Given the description of an element on the screen output the (x, y) to click on. 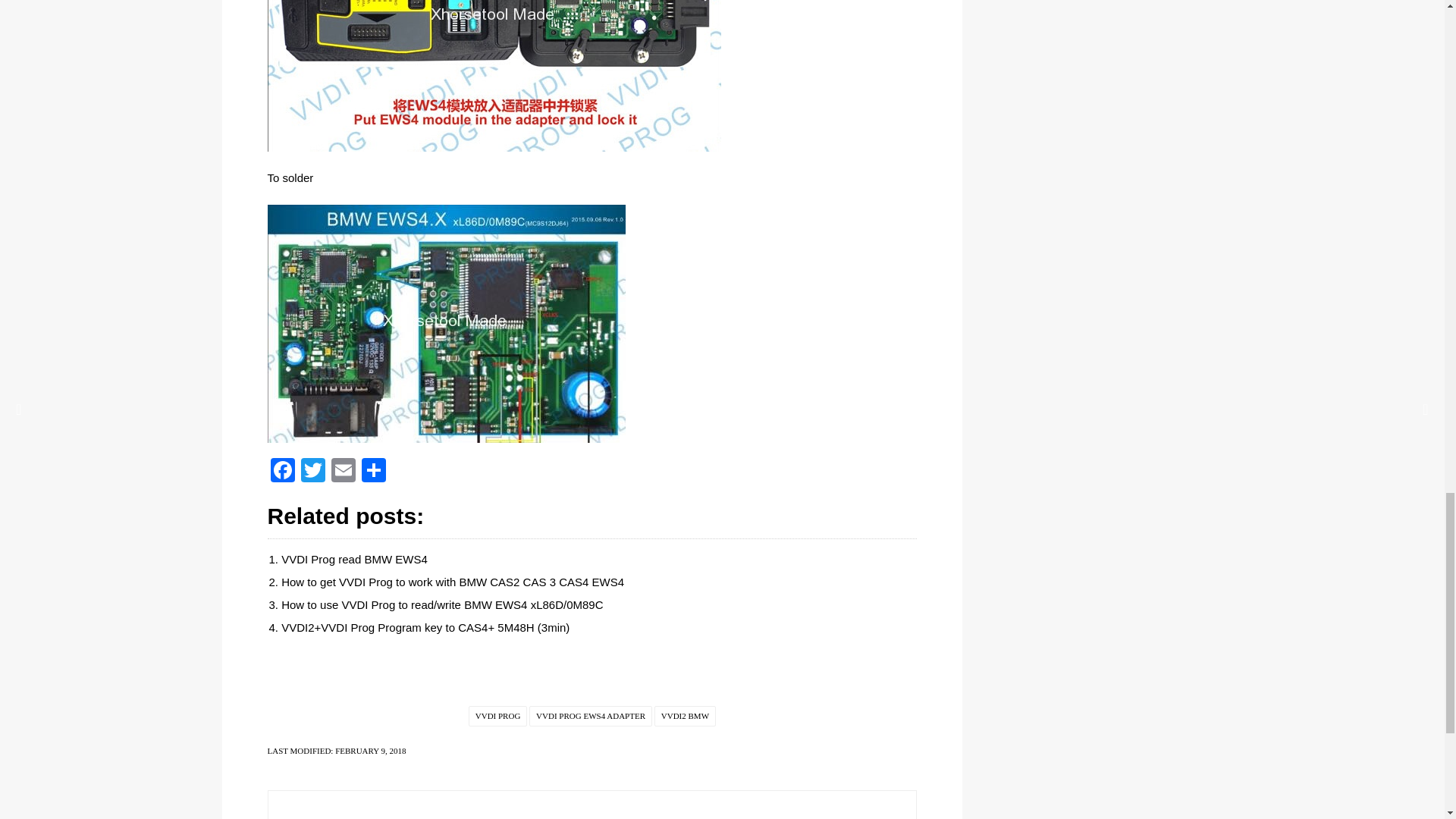
How to get VVDI Prog to work with BMW CAS2 CAS 3 CAS4 EWS4 (452, 581)
VVDI Prog read BMW EWS4 (354, 558)
Facebook (281, 471)
Xhorse engineer (585, 817)
How to get VVDI Prog to work with BMW CAS2 CAS 3 CAS4 EWS4 (452, 581)
Email (342, 471)
VVDI Prog read BMW EWS4 (354, 558)
VVDI2 BMW (684, 715)
Twitter (312, 471)
VVDI PROG (497, 715)
